Given the description of an element on the screen output the (x, y) to click on. 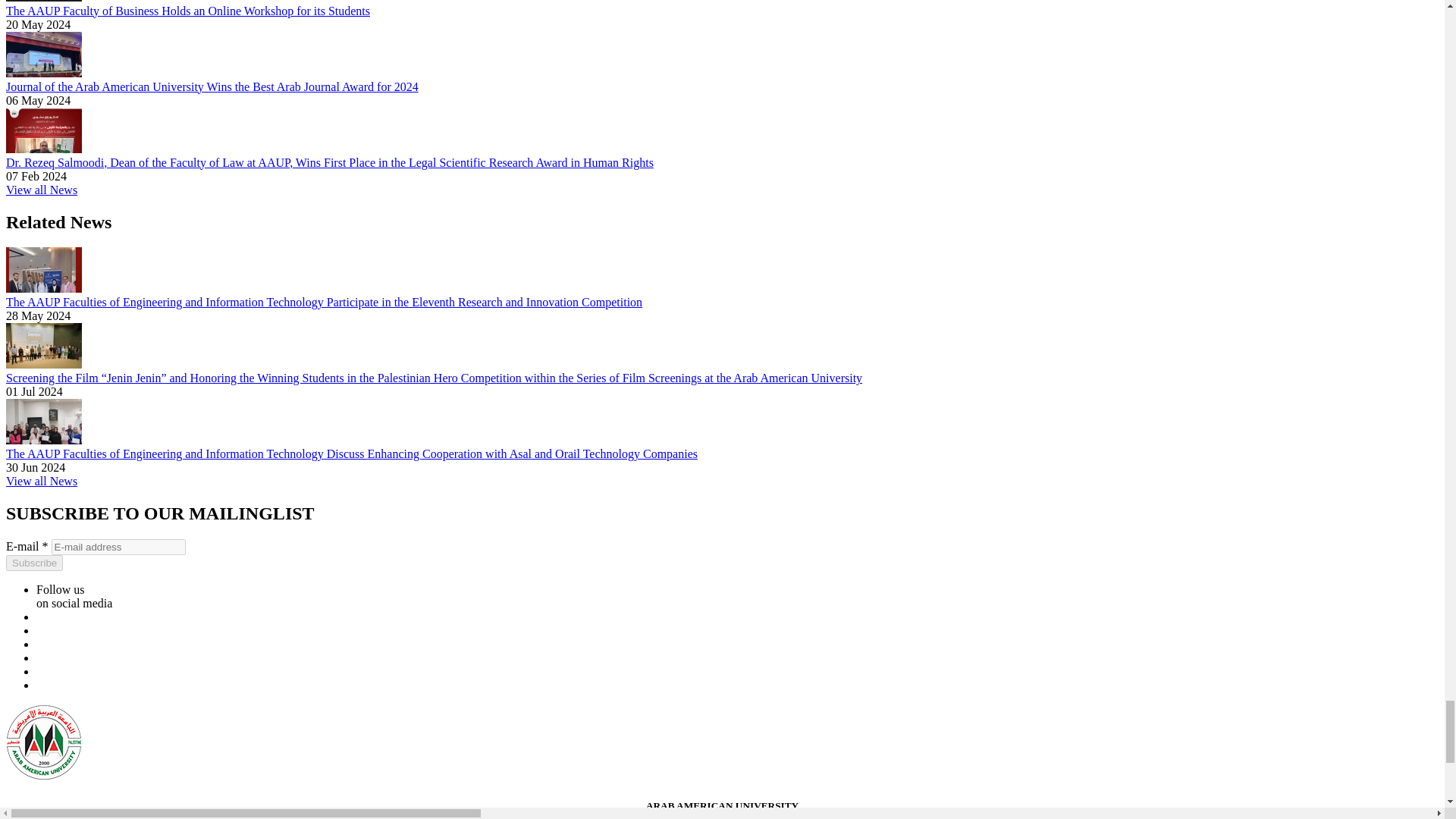
Subscribe (33, 562)
